Given the description of an element on the screen output the (x, y) to click on. 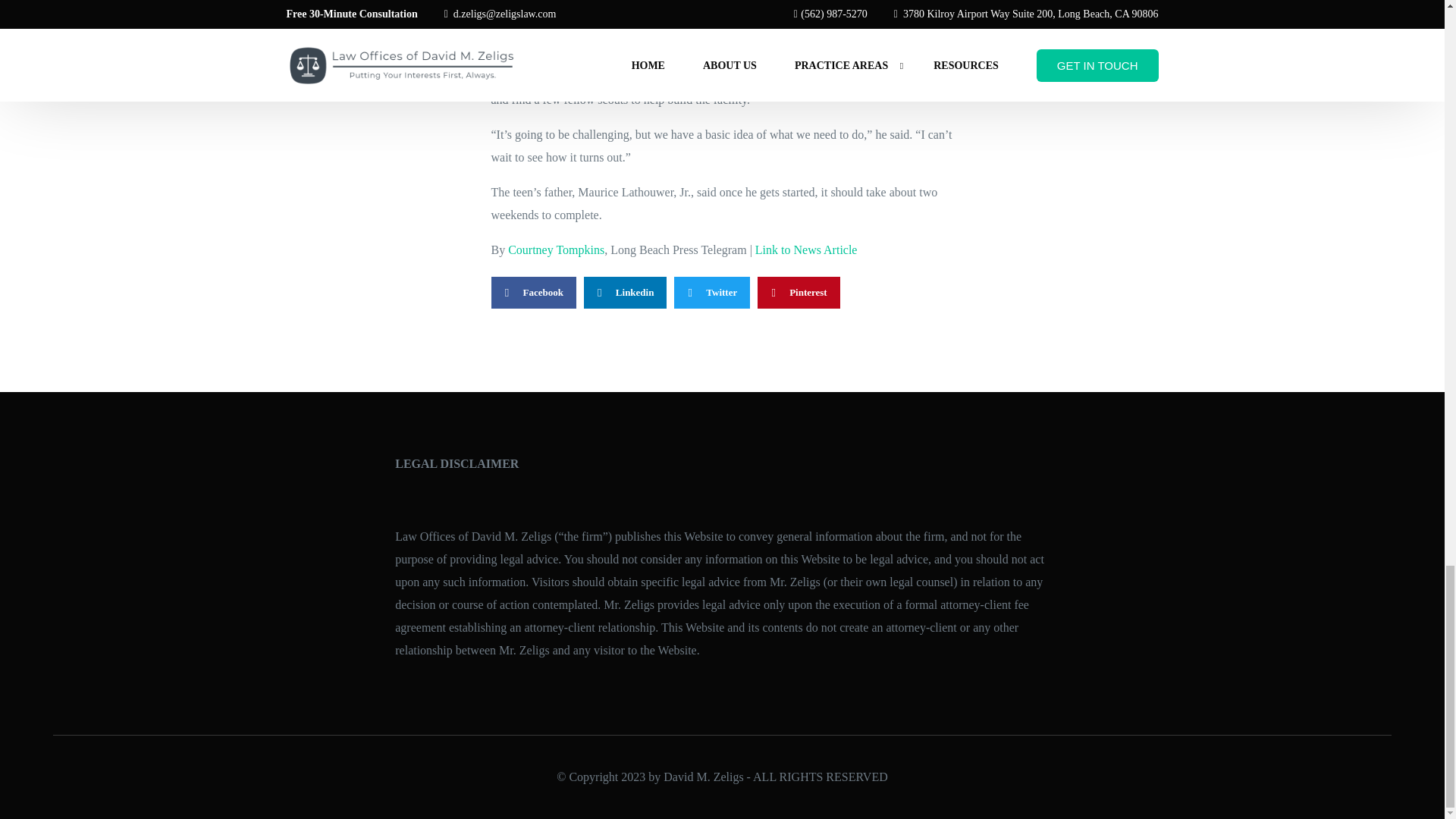
Courtney Tompkins (556, 249)
Link to News Article (806, 249)
